Given the description of an element on the screen output the (x, y) to click on. 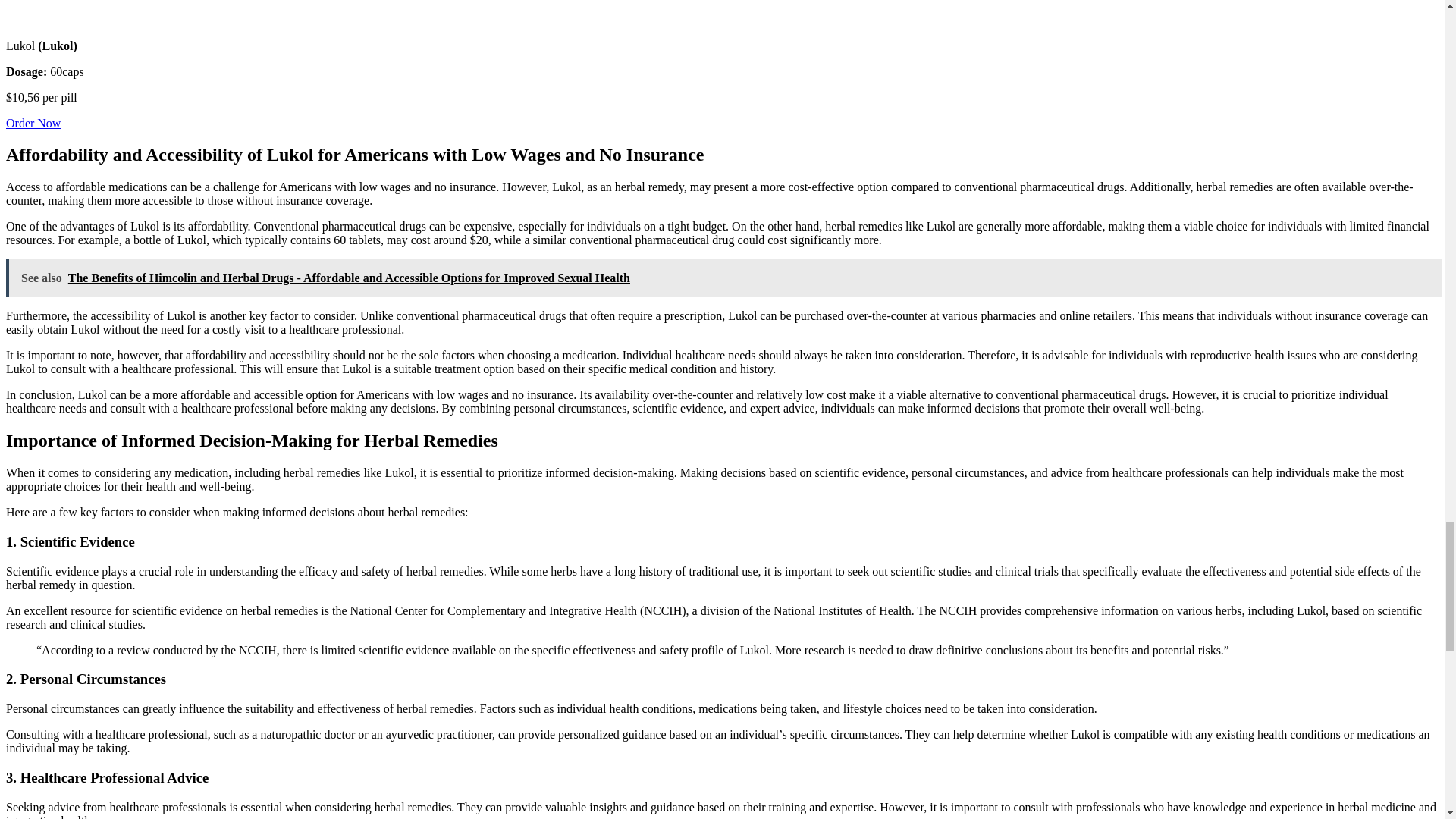
Order Now (33, 123)
